Given the description of an element on the screen output the (x, y) to click on. 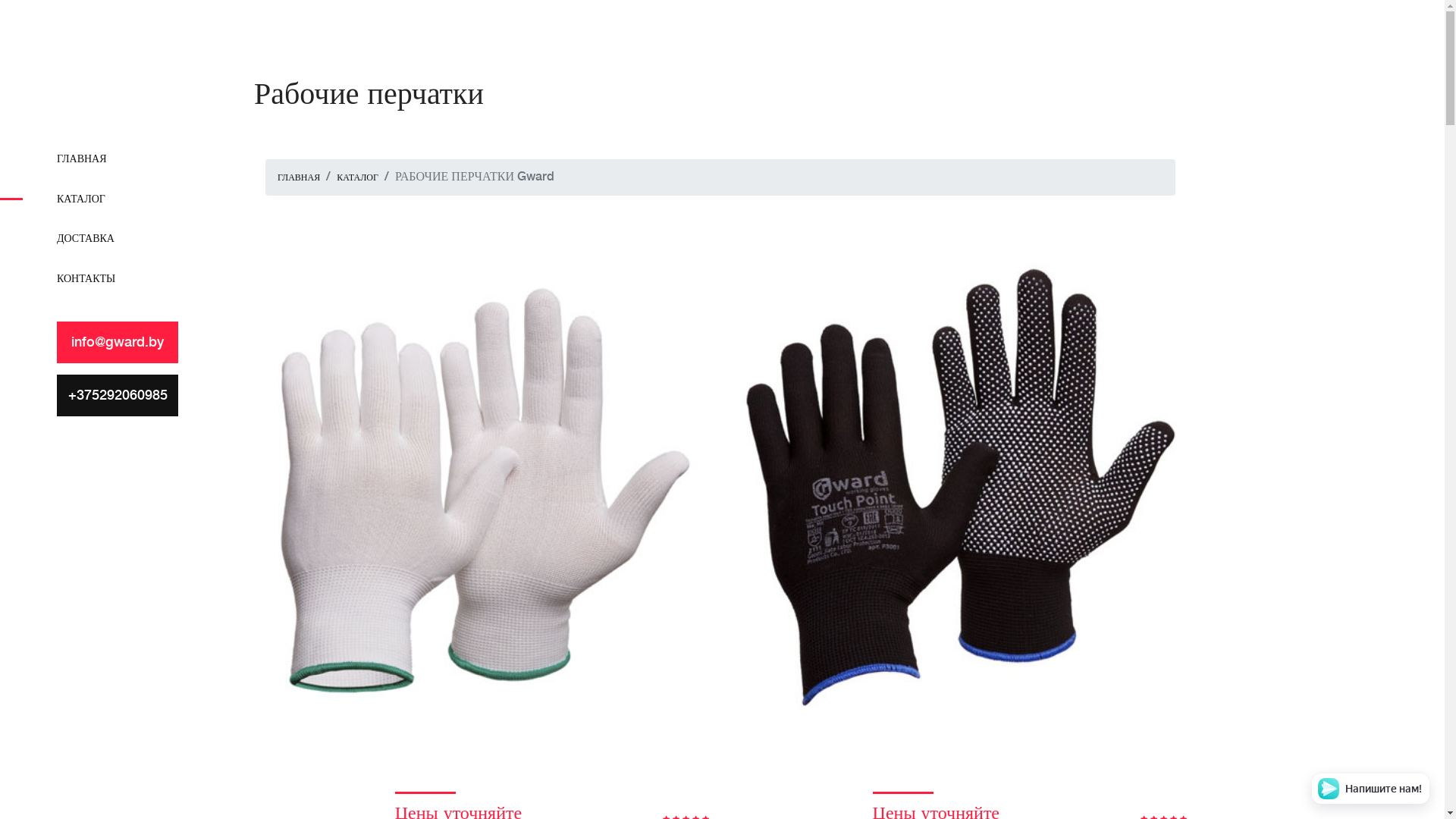
+375292060985 Element type: text (117, 395)
info@gward.by Element type: text (117, 342)
